Given the description of an element on the screen output the (x, y) to click on. 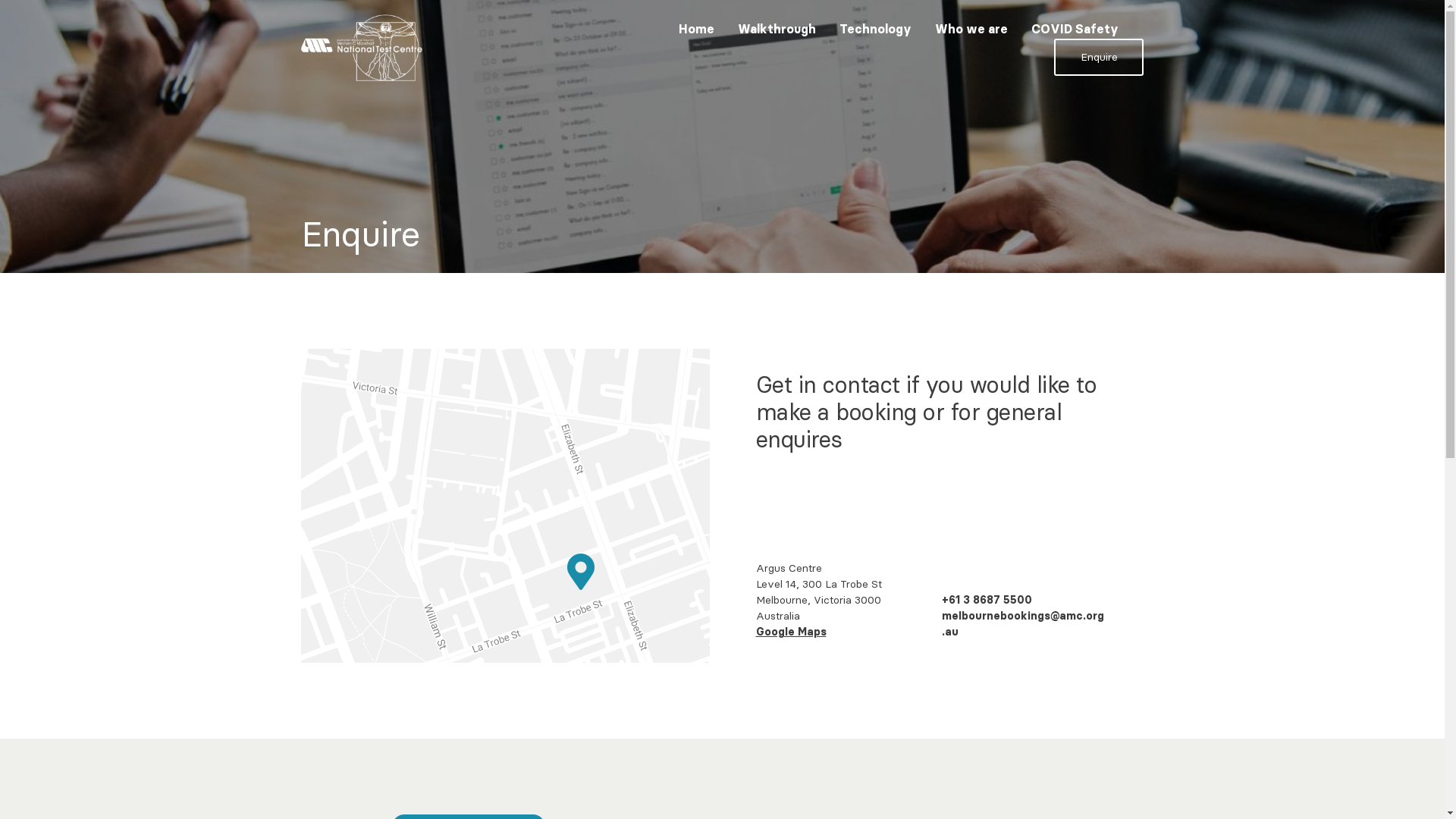
Walkthrough Element type: text (776, 28)
Technology Element type: text (875, 28)
Home Element type: text (696, 28)
COVID Safety Element type: text (1074, 28)
Enquire Element type: text (1098, 56)
Who we are Element type: text (971, 28)
melbournebookings@amc.org.au Element type: text (1022, 623)
+61 3 8687 5500 Element type: text (986, 599)
Google Maps Element type: text (790, 631)
